Given the description of an element on the screen output the (x, y) to click on. 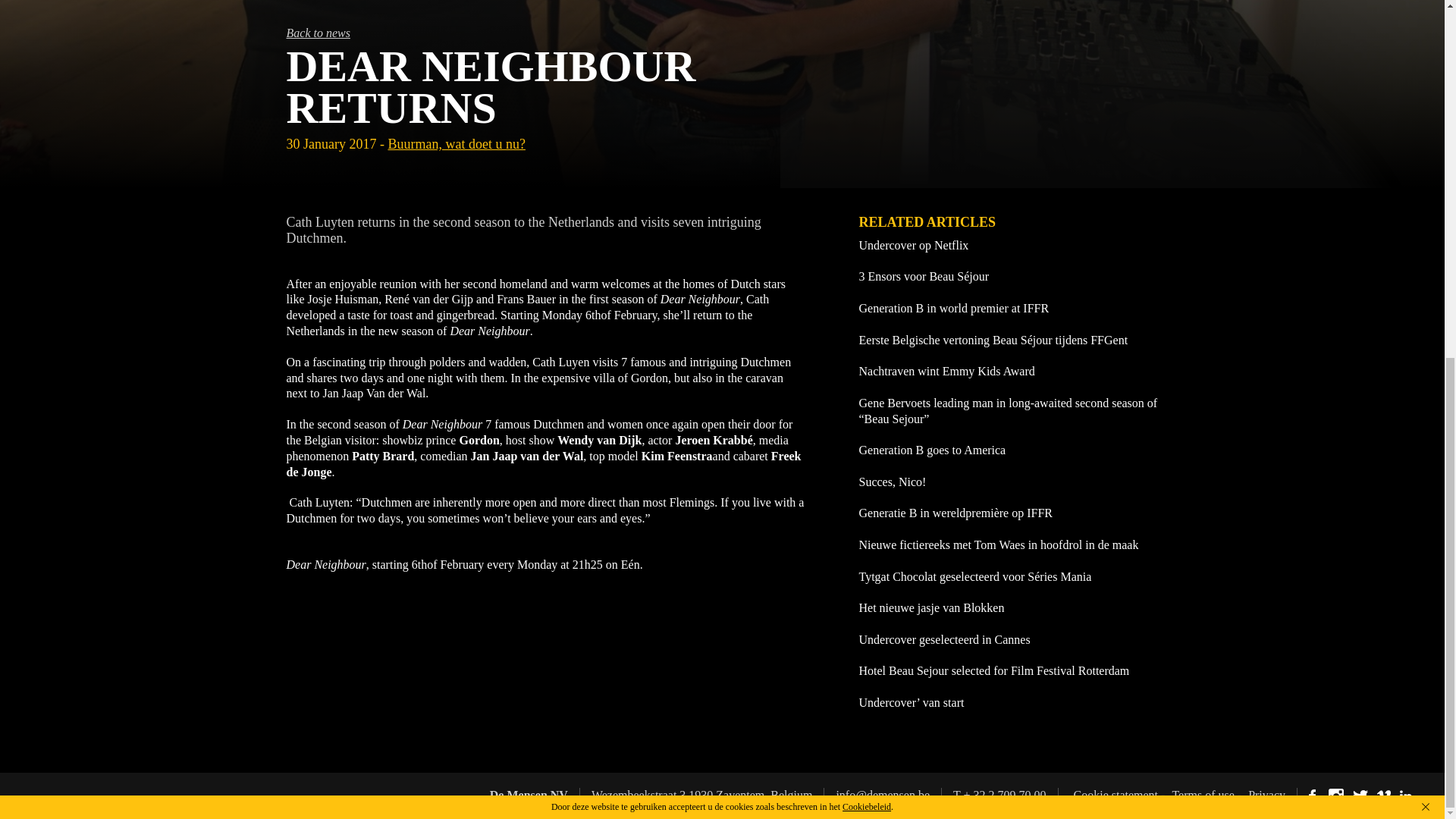
LinkedIn De Mensen (1407, 794)
Undercover op Netflix (1008, 245)
Cookie statement (1116, 794)
Generation B goes to America (1008, 450)
Nachtraven wint Emmy Kids Award (1008, 371)
Hotel Beau Sejour selected for Film Festival Rotterdam (1008, 671)
Het nieuwe jasje van Blokken (1008, 608)
Back to news (722, 33)
Twitter De Mensen (1361, 794)
Cookiebeleid (867, 175)
Generation B in world premier at IFFR (1008, 308)
Undercover geselecteerd in Cannes (1008, 640)
Succes, Nico! (1008, 482)
Buurman, wat doet u nu? (455, 143)
Terms of use (1202, 794)
